Given the description of an element on the screen output the (x, y) to click on. 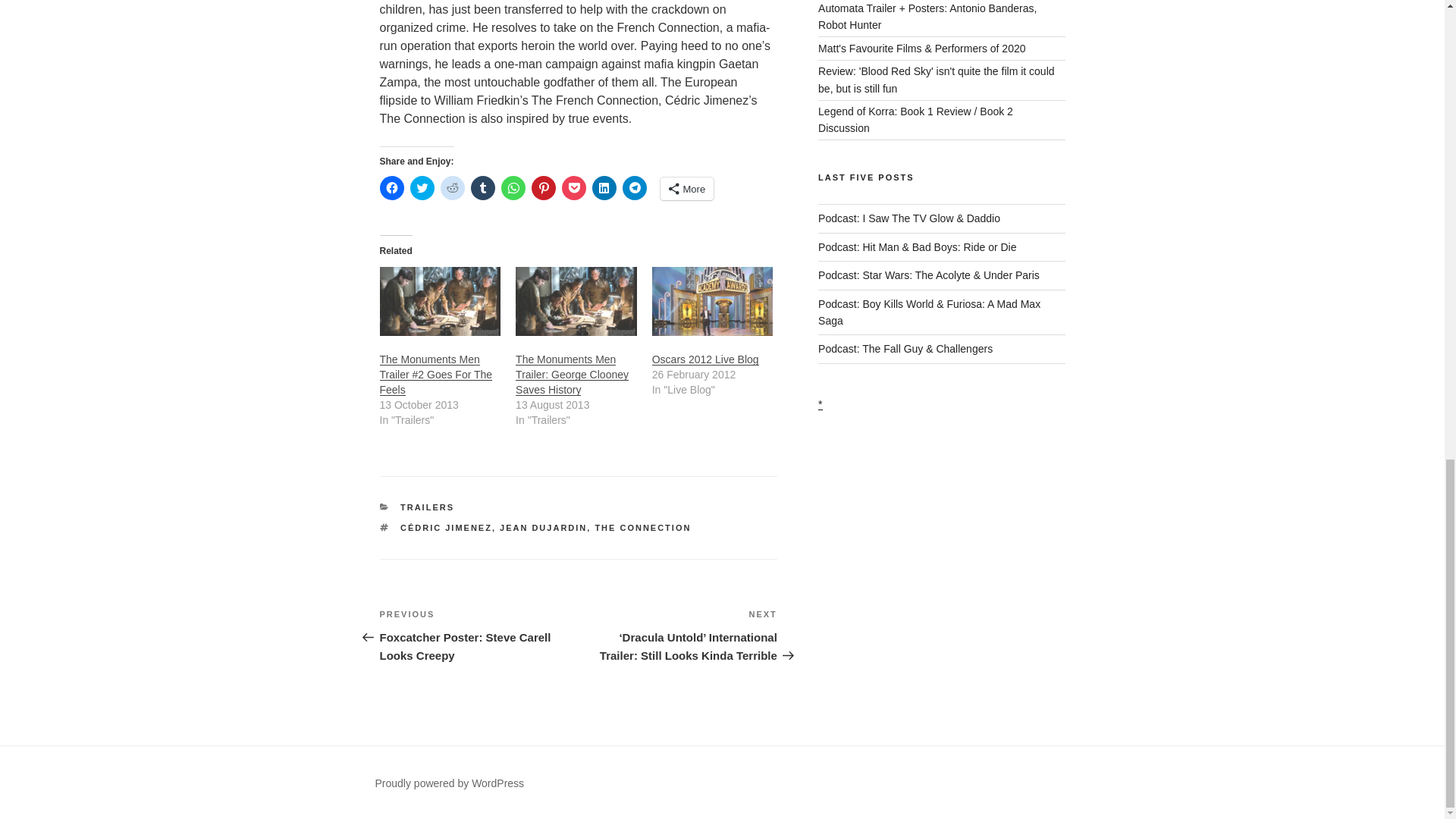
Oscars 2012 Live Blog (705, 358)
Click to share on Tumblr (482, 187)
Click to share on Telegram (633, 187)
JEAN DUJARDIN (542, 527)
More (686, 188)
Click to share on LinkedIn (603, 187)
Click to share on Twitter (421, 187)
The Monuments Men Trailer: George Clooney Saves History (576, 300)
Click to share on Facebook (390, 187)
Click to share on WhatsApp (512, 187)
The Monuments Men Trailer: George Clooney Saves History (571, 373)
THE CONNECTION (642, 527)
Click to share on Pocket (572, 187)
Click to share on Reddit (451, 187)
